Given the description of an element on the screen output the (x, y) to click on. 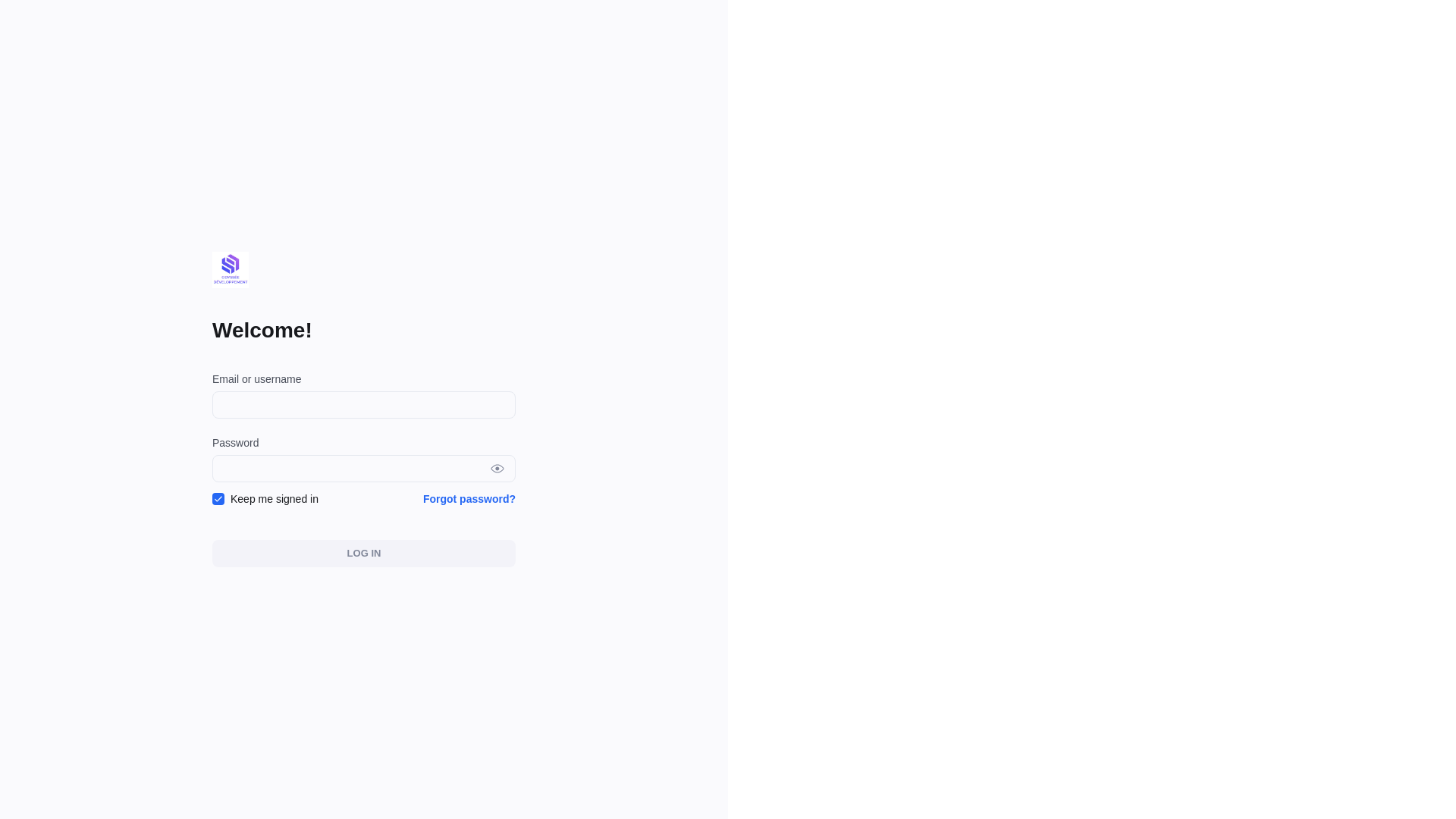
Forgot password? Element type: text (469, 498)
LOG IN Element type: text (363, 553)
